Given the description of an element on the screen output the (x, y) to click on. 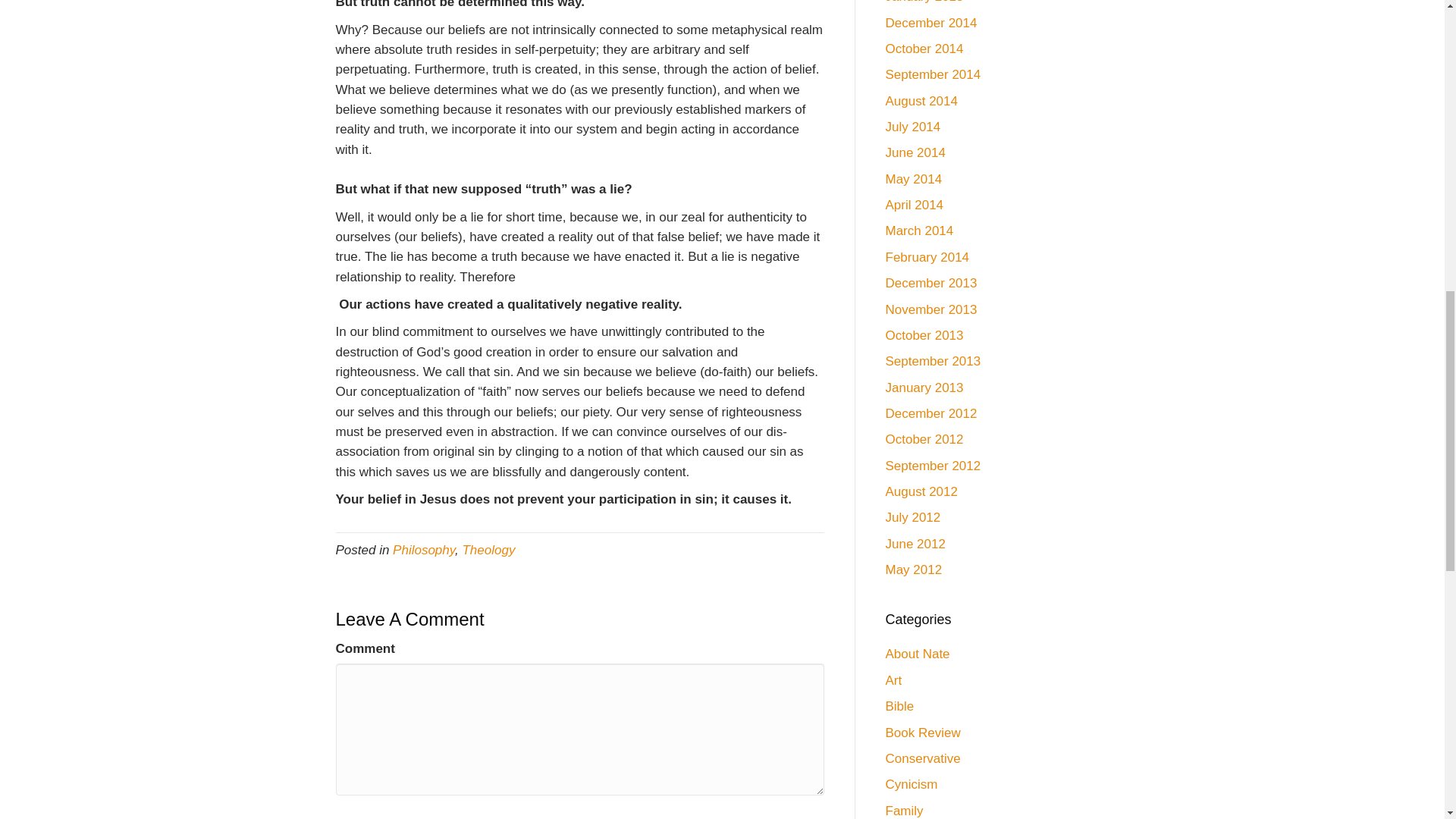
Theology (488, 549)
Philosophy (423, 549)
December 2014 (930, 22)
January 2015 (924, 2)
